Given the description of an element on the screen output the (x, y) to click on. 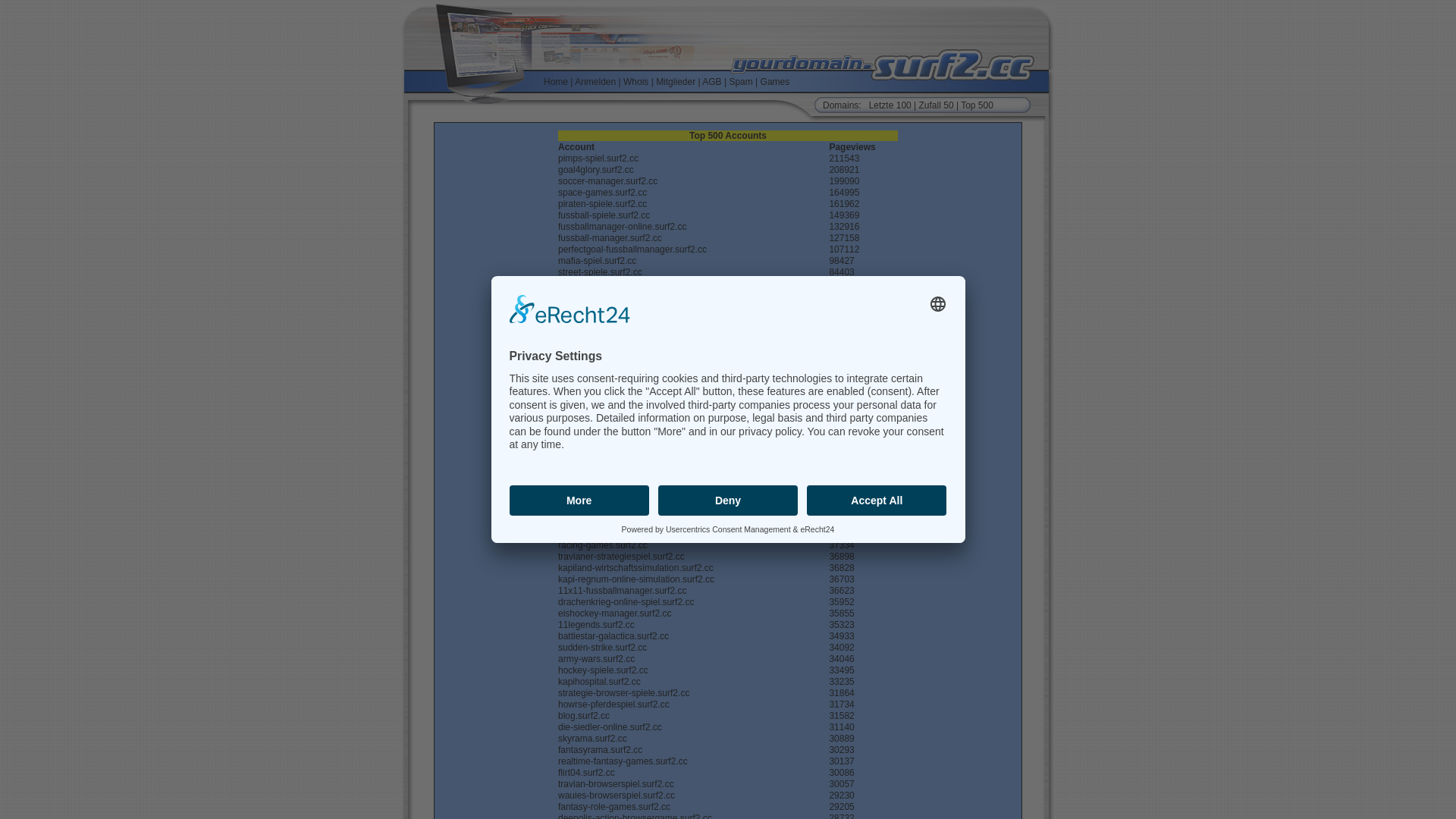
online-ganoven-spiele.surf2.cc Element type: text (619, 465)
Anmelden Element type: text (594, 80)
Home Element type: text (555, 80)
travian-browserspiel.surf2.cc Element type: text (616, 783)
fussball-manager.surf2.cc Element type: text (610, 237)
army-wars.surf2.cc Element type: text (596, 658)
11legends.surf2.cc Element type: text (596, 624)
AGB Element type: text (711, 80)
space-strategy-games.surf2.cc Element type: text (620, 374)
multiplayer-spiele.surf2.cc Element type: text (610, 510)
racing-games.surf2.cc Element type: text (602, 544)
hockey-spiele.surf2.cc Element type: text (603, 670)
realtime-strategygame.surf2.cc Element type: text (620, 362)
fantasie-strategie-spiele.surf2.cc Element type: text (623, 351)
Top 500 Element type: text (976, 105)
die-siedler-online.surf2.cc Element type: text (610, 726)
Mitglieder Element type: text (675, 80)
wauies-browserspiel.surf2.cc Element type: text (616, 795)
fussball-spiele.surf2.cc Element type: text (603, 215)
pimps-spiel.surf2.cc Element type: text (598, 158)
Whois Element type: text (635, 80)
Spam Element type: text (740, 80)
flirt04.surf2.cc Element type: text (586, 772)
flirt06.surf2.cc Element type: text (586, 476)
sudden-strike.surf2.cc Element type: text (602, 647)
shakes-and-fidget-game.surf2.cc Element type: text (624, 419)
wurzelimperium-onlinespiel.surf2.cc Element type: text (630, 442)
howrse-pferdespiel.surf2.cc Element type: text (613, 704)
drachenkrieg-online-spiel.surf2.cc Element type: text (625, 601)
Zufall 50 Element type: text (936, 105)
zoomumba.surf2.cc Element type: text (597, 488)
goalstar-fussballmanager.surf2.cc Element type: text (625, 499)
simulation-spiele.surf2.cc Element type: text (609, 431)
mafia-spiel.surf2.cc Element type: text (597, 260)
kapiland-wirtschaftssimulation.surf2.cc Element type: text (635, 567)
action-spiele.surf2.cc Element type: text (600, 283)
eishockey-manager.surf2.cc Element type: text (614, 613)
damoria-online-spielen.surf2.cc Element type: text (621, 397)
fussballmanager-online.surf2.cc Element type: text (622, 226)
blog.surf2.cc Element type: text (583, 715)
Letzte 100 Element type: text (890, 105)
Games Element type: text (775, 80)
realtime-fantasy-games.surf2.cc Element type: text (622, 761)
battlestar-galactica.surf2.cc Element type: text (613, 635)
space-games.surf2.cc Element type: text (602, 192)
gladiator-online-spiele.surf2.cc Element type: text (619, 340)
kapi-regnum-online-simulation.surf2.cc Element type: text (636, 579)
massive-multiplayer-online-game.surf2.cc Element type: text (641, 385)
fussballcup.surf2.cc Element type: text (597, 453)
fantasy-role-games.surf2.cc Element type: text (614, 806)
fussballmanager.surf2.cc Element type: text (608, 408)
formel-1-spiele.surf2.cc Element type: text (605, 328)
street-spiele.surf2.cc Element type: text (600, 271)
piraten-online.surf2.cc Element type: text (602, 533)
boxmanager.surf2.cc Element type: text (600, 294)
onlinefussballmanager.surf2.cc Element type: text (620, 306)
soccer-manager.surf2.cc Element type: text (607, 180)
strategie-browser-spiele.surf2.cc Element type: text (623, 692)
fantasyrama.surf2.cc Element type: text (600, 749)
farmerama-game.surf2.cc Element type: text (610, 317)
piraten-spiele.surf2.cc Element type: text (602, 203)
perfectgoal-fussballmanager.surf2.cc Element type: text (632, 249)
kapihospital.surf2.cc Element type: text (599, 681)
grepolis.surf2.cc Element type: text (591, 522)
skyrama.surf2.cc Element type: text (592, 738)
goal4glory.surf2.cc Element type: text (595, 169)
travianer-strategiespiel.surf2.cc Element type: text (621, 556)
11x11-fussballmanager.surf2.cc Element type: text (622, 590)
